Given the description of an element on the screen output the (x, y) to click on. 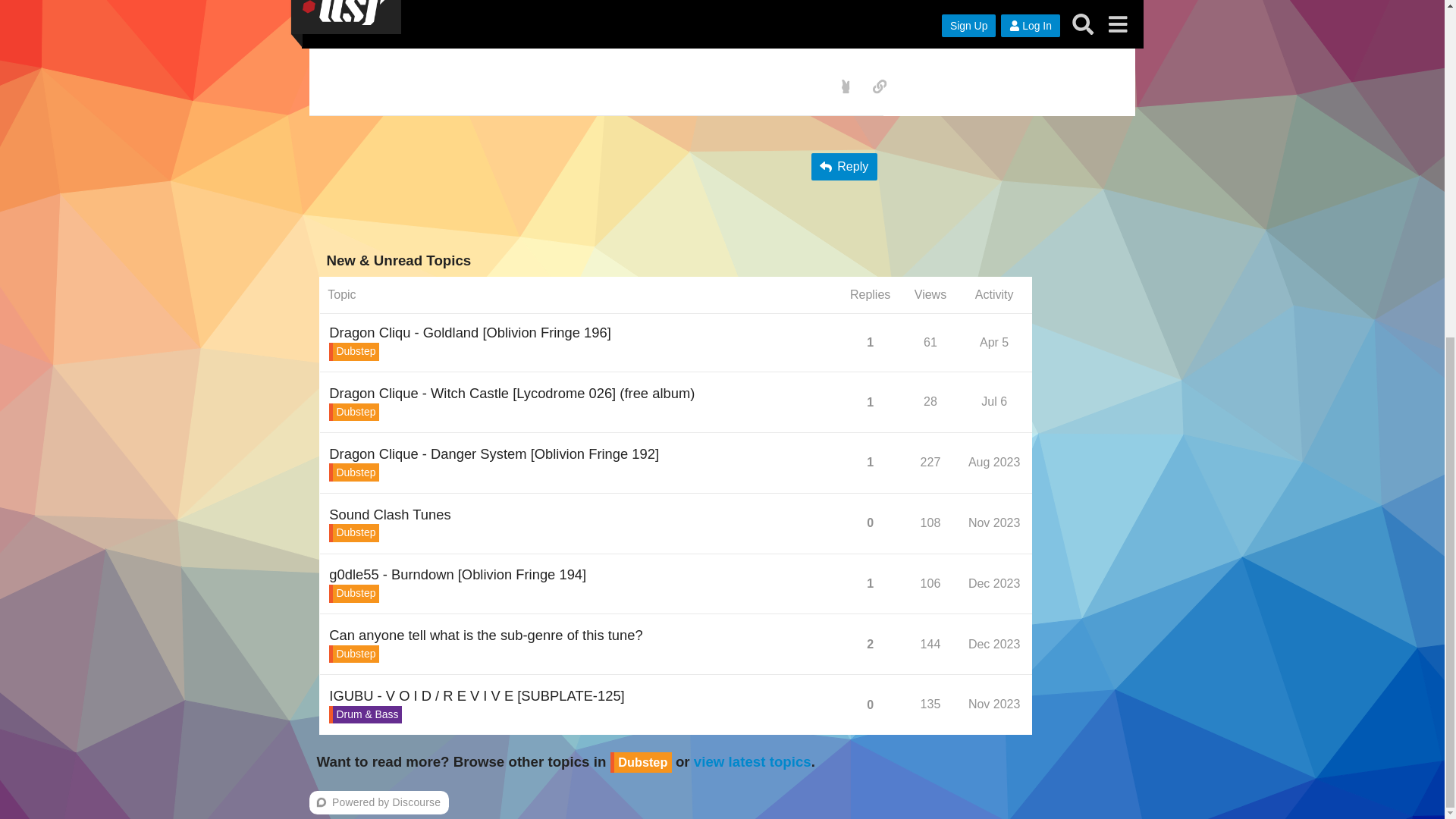
Can anyone tell what is the sub-genre of this tune? (485, 634)
this topic has been viewed 61 times (930, 341)
Dec 2023 (994, 583)
this topic has been viewed 28 times (930, 400)
Dubstep (353, 472)
Dubstep (353, 533)
copy a link to this post to clipboard (878, 86)
Reply (843, 166)
bigup this post (845, 86)
Dubstep (353, 352)
Apr 5 (993, 342)
Sound Clash Tunes (389, 514)
Jul 6 (993, 401)
Aug 2023 (996, 402)
